Given the description of an element on the screen output the (x, y) to click on. 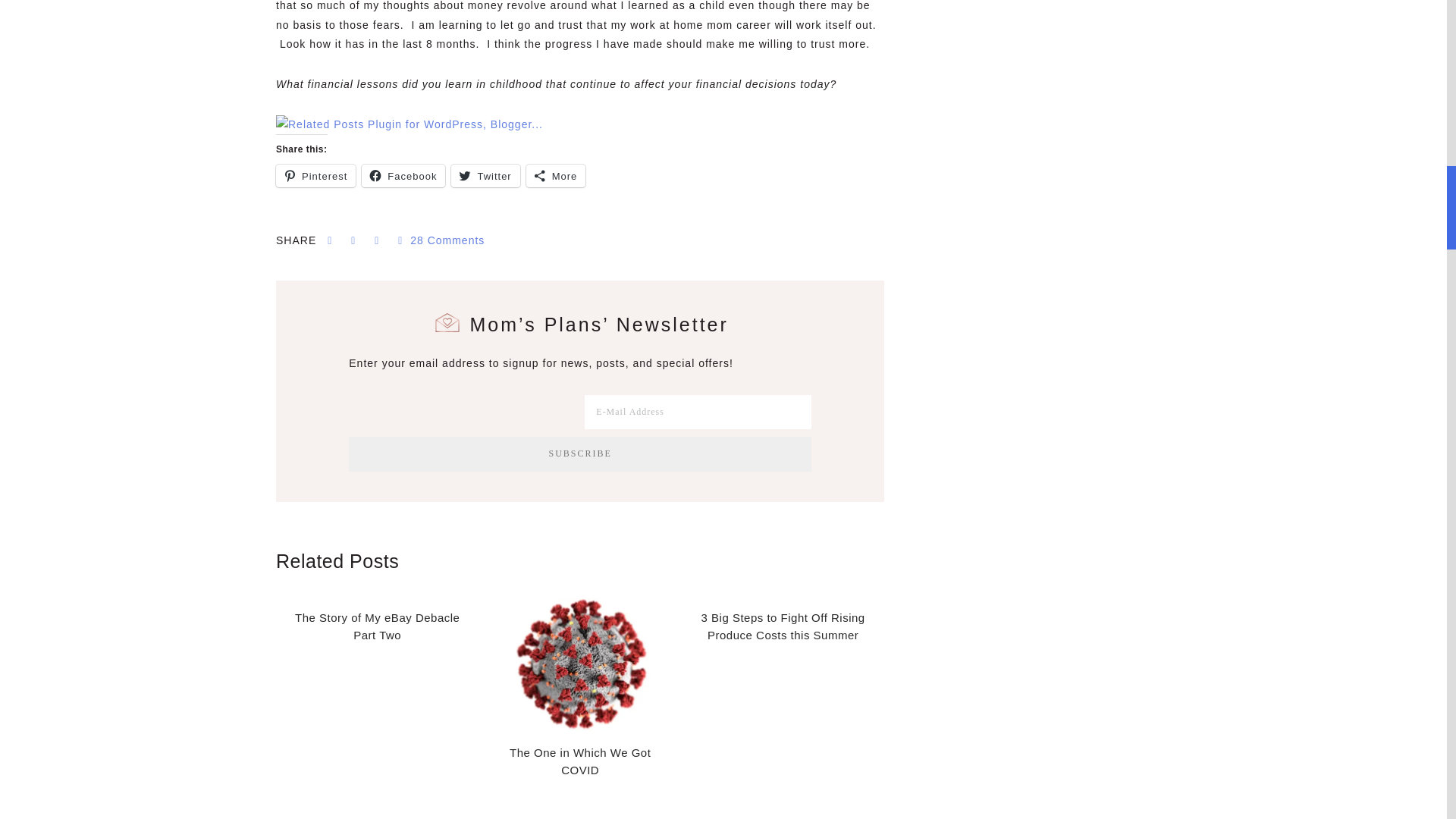
Click to share on Twitter (485, 175)
Click to share on Facebook (403, 175)
Permanent Link to The Story of My eBay Debacle Part Two (376, 626)
Subscribe (579, 453)
Click to share on Pinterest (315, 175)
